Given the description of an element on the screen output the (x, y) to click on. 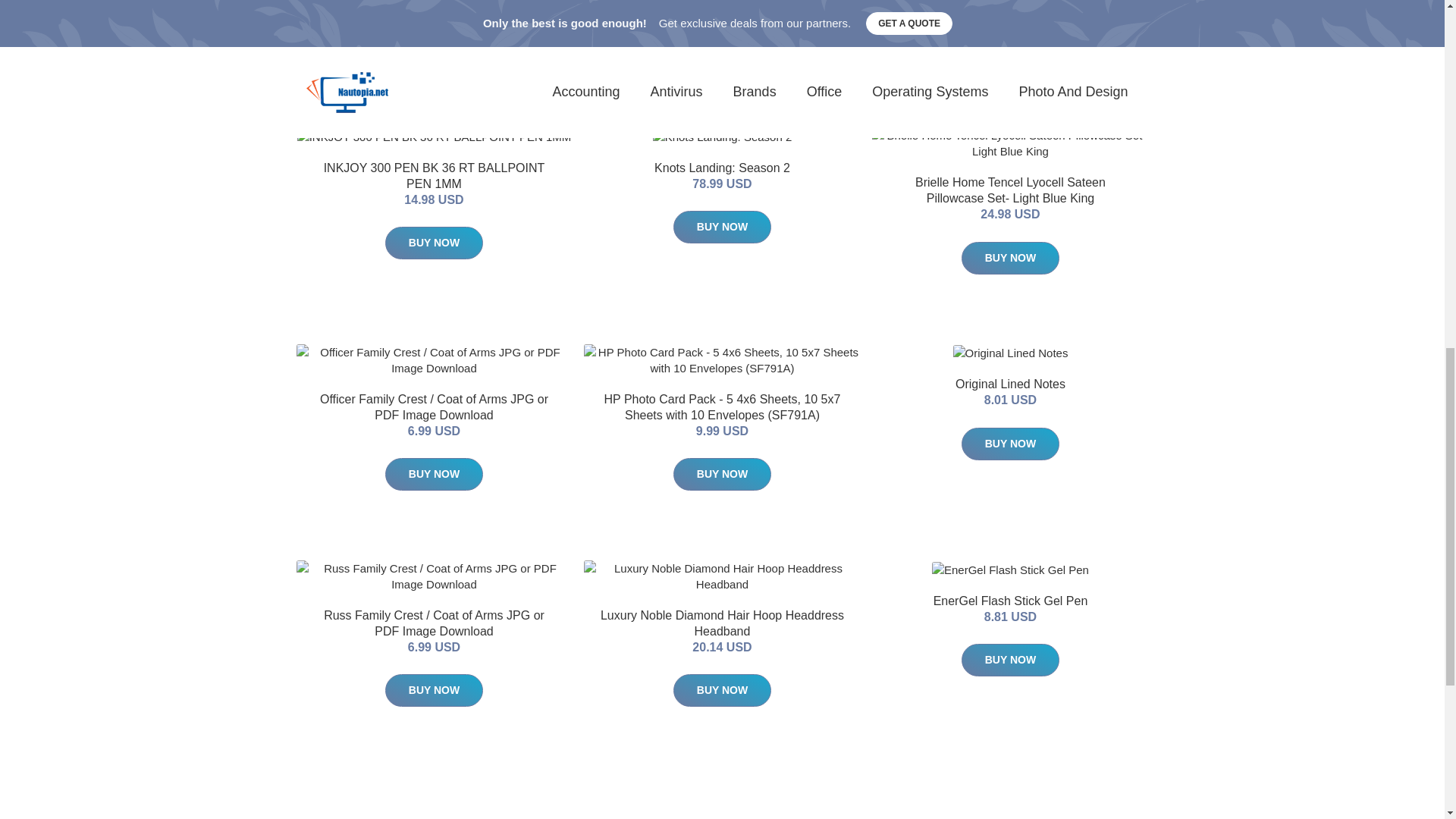
BUY NOW (721, 41)
BUY NOW (1009, 41)
INKJOY 300 PEN BK 36 RT BALLPOINT PEN 1MM (433, 175)
BUY NOW (434, 242)
BUY NOW (434, 473)
Knots Landing: Season 2 (721, 167)
BUY NOW (434, 41)
BUY NOW (721, 226)
Original Lined Notes (1010, 383)
BUY NOW (721, 473)
